Given the description of an element on the screen output the (x, y) to click on. 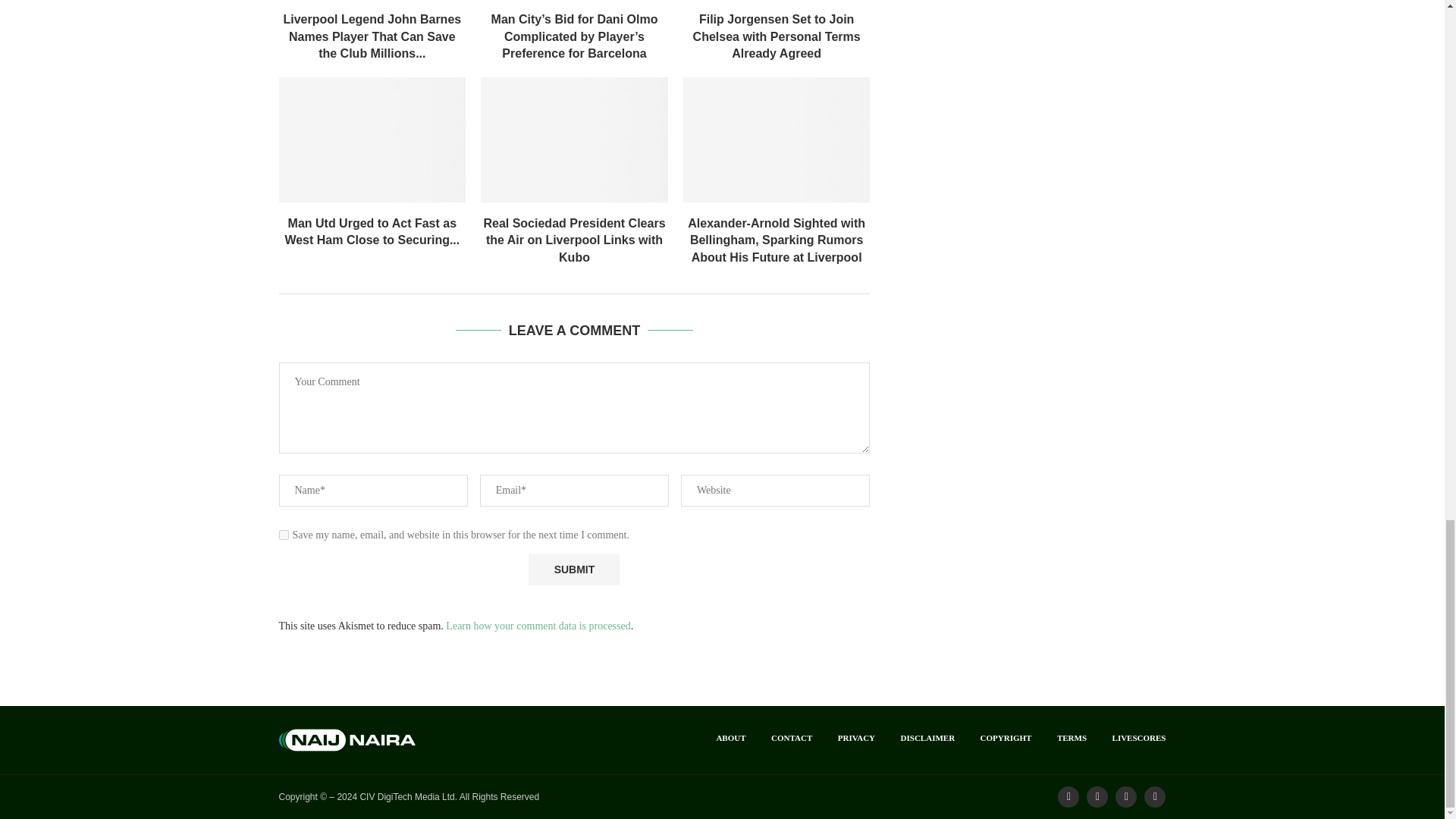
Submit (574, 569)
yes (283, 534)
